Given the description of an element on the screen output the (x, y) to click on. 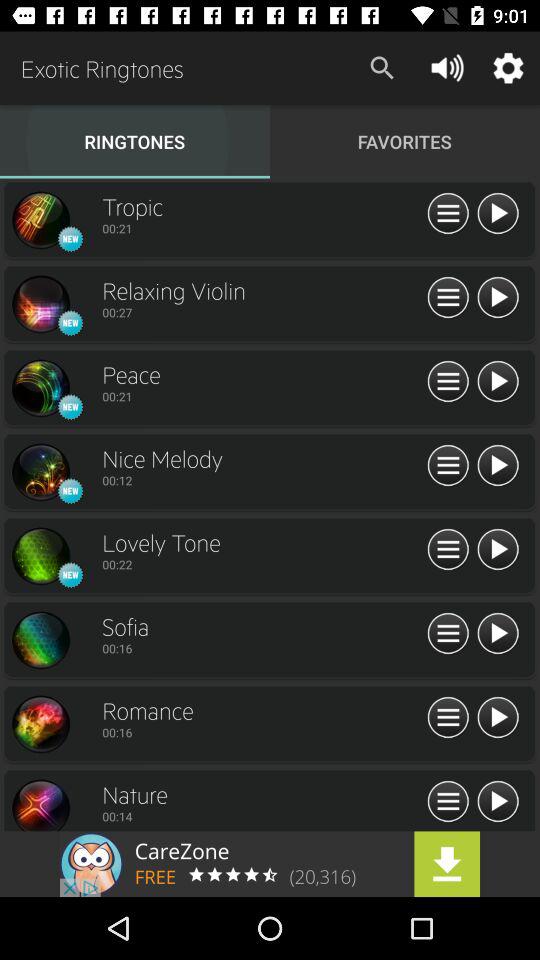
more aption (447, 381)
